Given the description of an element on the screen output the (x, y) to click on. 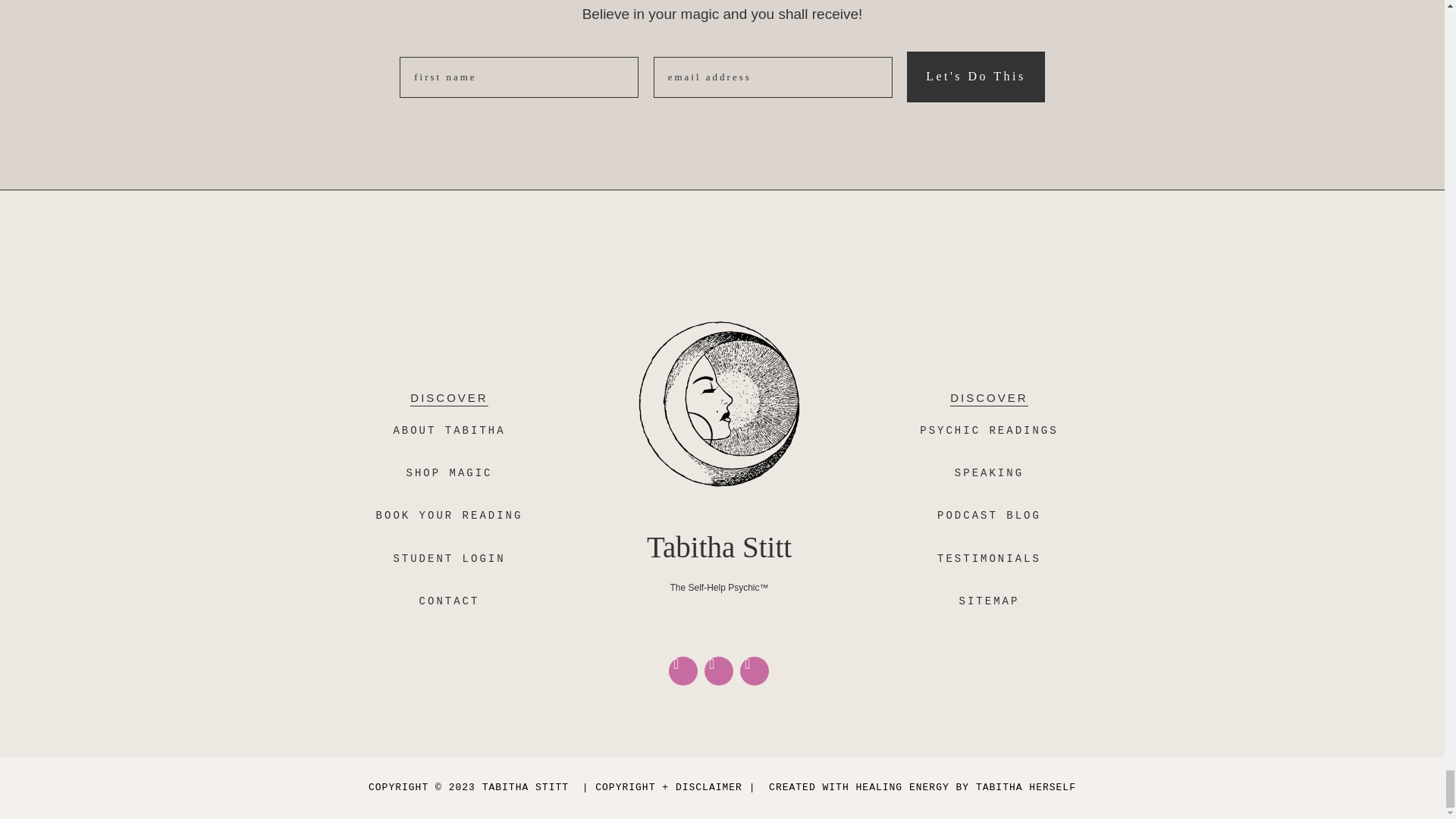
Let's Do This (976, 76)
